Given the description of an element on the screen output the (x, y) to click on. 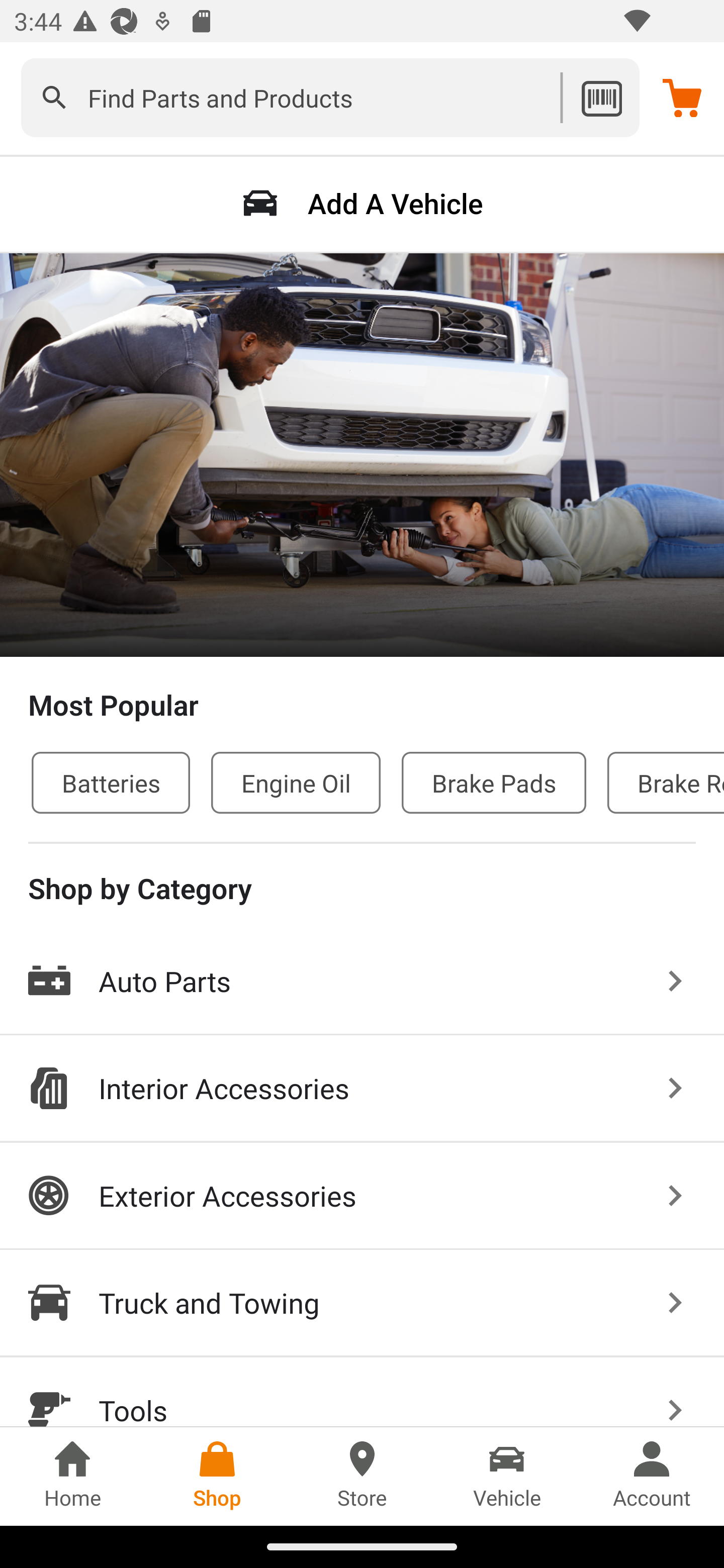
 scan-product-to-search  (601, 97)
 (54, 97)
Cart, no items  (681, 97)
add-vehicle-button  Add A Vehicle (362, 202)
Batteries (110, 782)
Engine Oil (295, 782)
Brake Pads (493, 782)
Brake Rotors (665, 782)
Auto Parts category  Auto Parts  (362, 981)
Truck and Towing category  Truck and Towing  (362, 1303)
Tools category  Tools  (362, 1391)
Home (72, 1475)
Shop (216, 1475)
Store (361, 1475)
Vehicle (506, 1475)
Account (651, 1475)
